Given the description of an element on the screen output the (x, y) to click on. 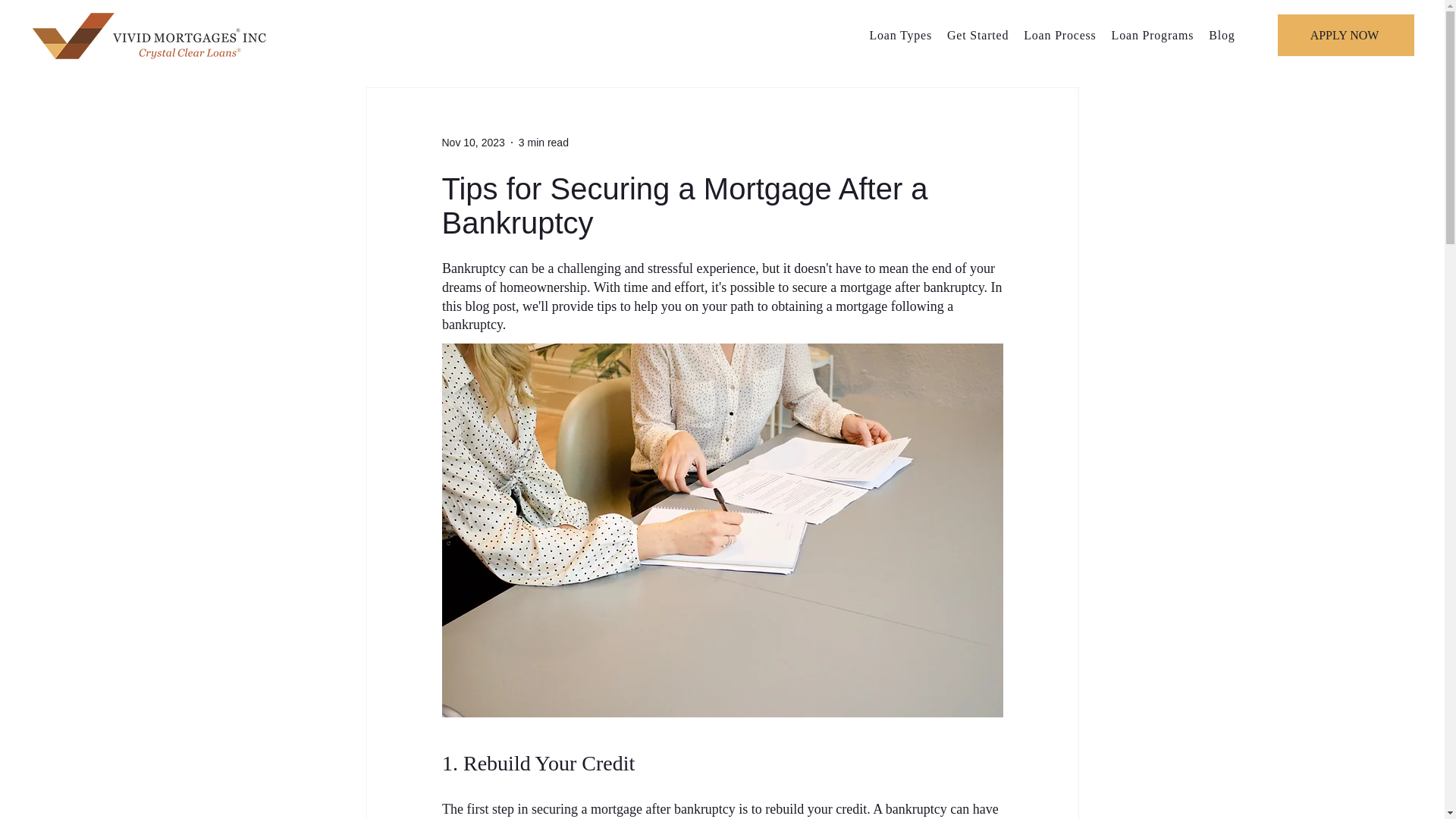
Loan Process (1059, 35)
Nov 10, 2023 (472, 142)
Get Started (977, 35)
Blog (1221, 35)
Loan Programs (1152, 35)
3 min read (543, 142)
APPLY NOW (1345, 35)
